Given the description of an element on the screen output the (x, y) to click on. 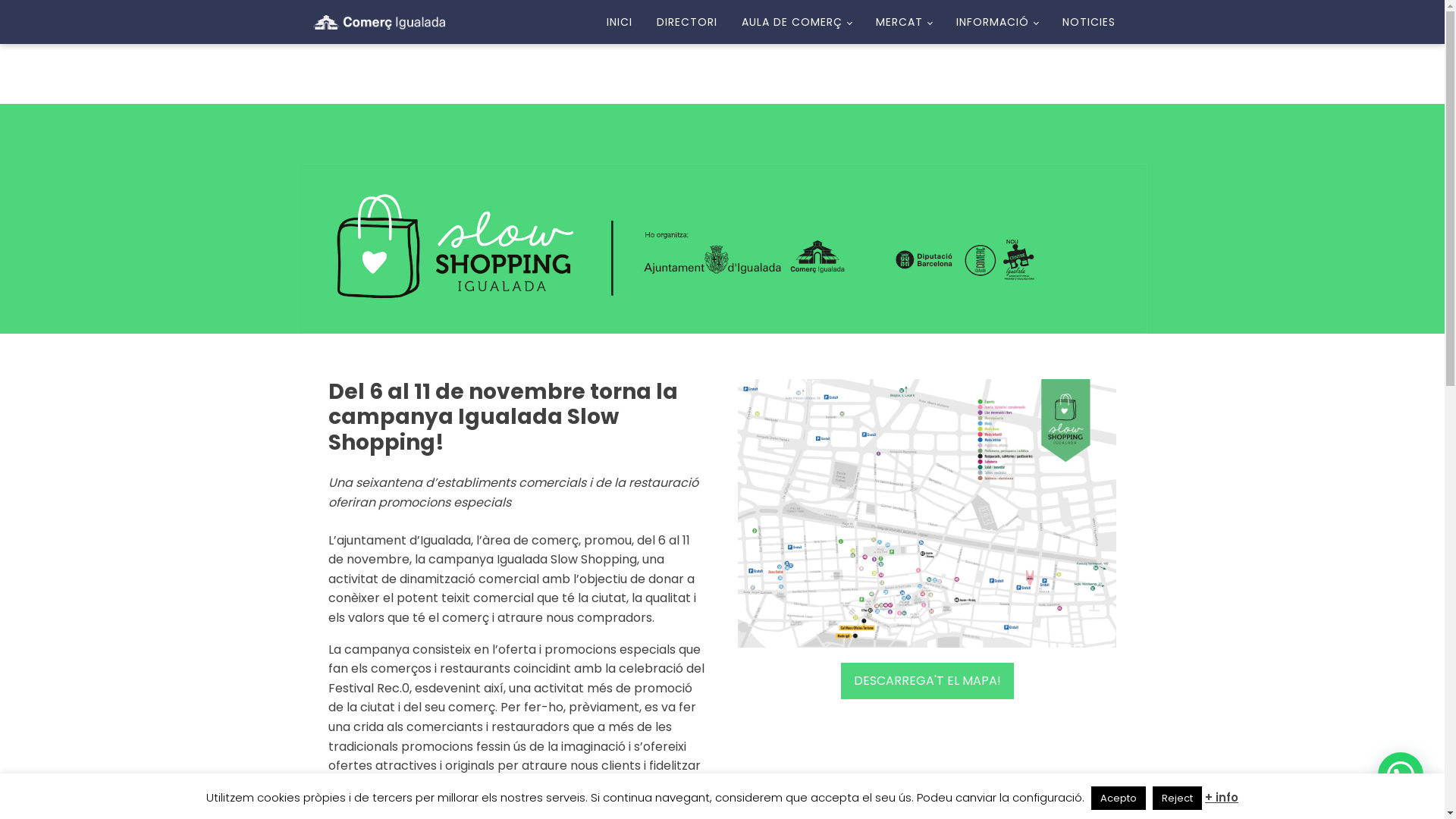
Acepto Element type: text (1118, 797)
INICI Element type: text (619, 21)
MERCAT Element type: text (903, 21)
+ info Element type: text (1221, 797)
DESCARREGA'T EL MAPA! Element type: text (926, 680)
DIRECTORI Element type: text (686, 21)
NOTICIES Element type: text (1087, 21)
Reject Element type: text (1176, 797)
